Given the description of an element on the screen output the (x, y) to click on. 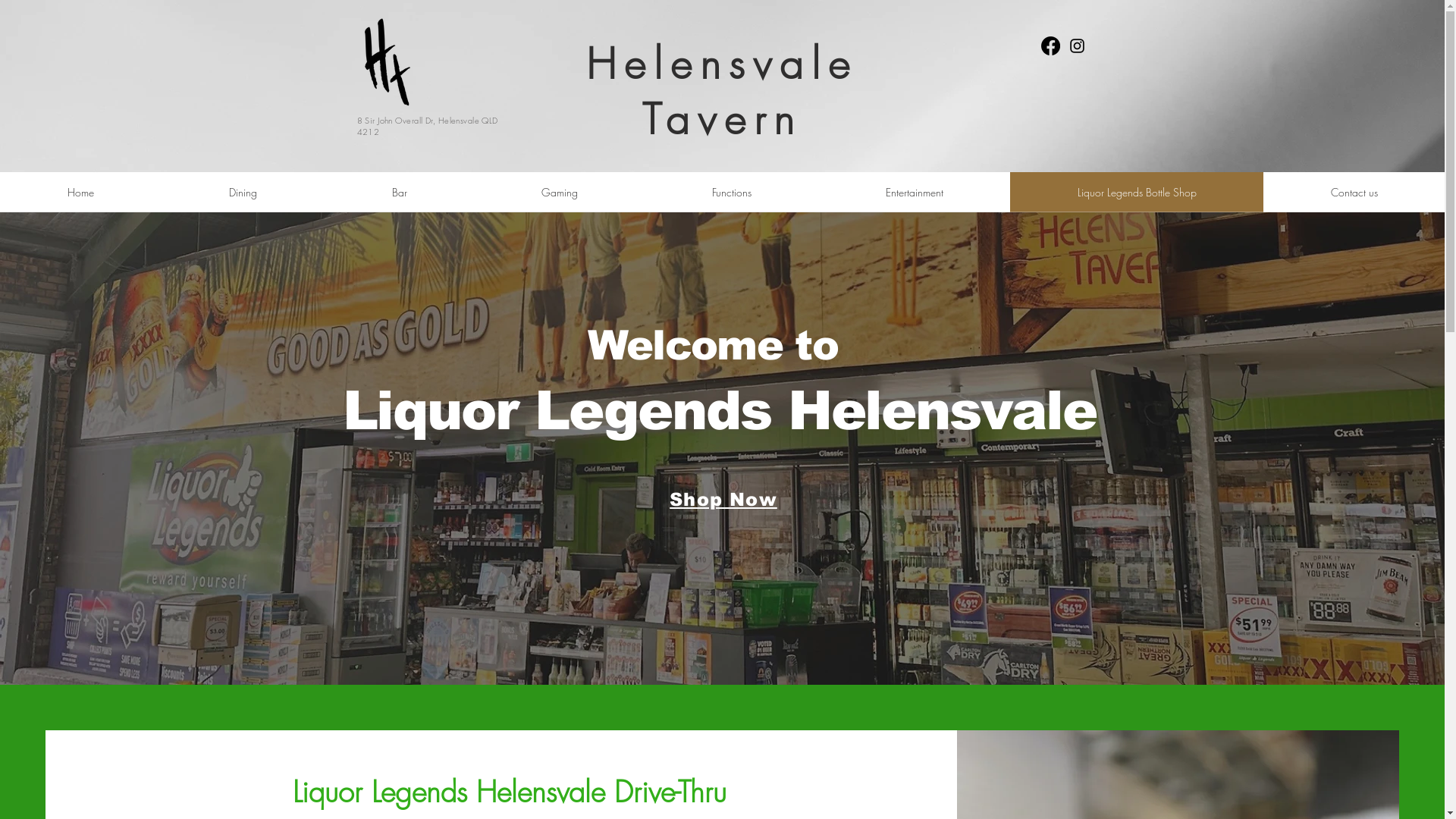
Dining Element type: text (241, 192)
Functions Element type: text (731, 192)
Entertainment Element type: text (914, 192)
Home Element type: text (80, 192)
Liquor Legends Bottle Shop Element type: text (1136, 192)
Shop Now Element type: text (724, 499)
Helensvale Tavern Logo_black transparent Element type: hover (369, 57)
Bar Element type: text (398, 192)
Contact us Element type: text (1353, 192)
Helensvale Tavern Element type: text (721, 91)
Gaming Element type: text (558, 192)
